Given the description of an element on the screen output the (x, y) to click on. 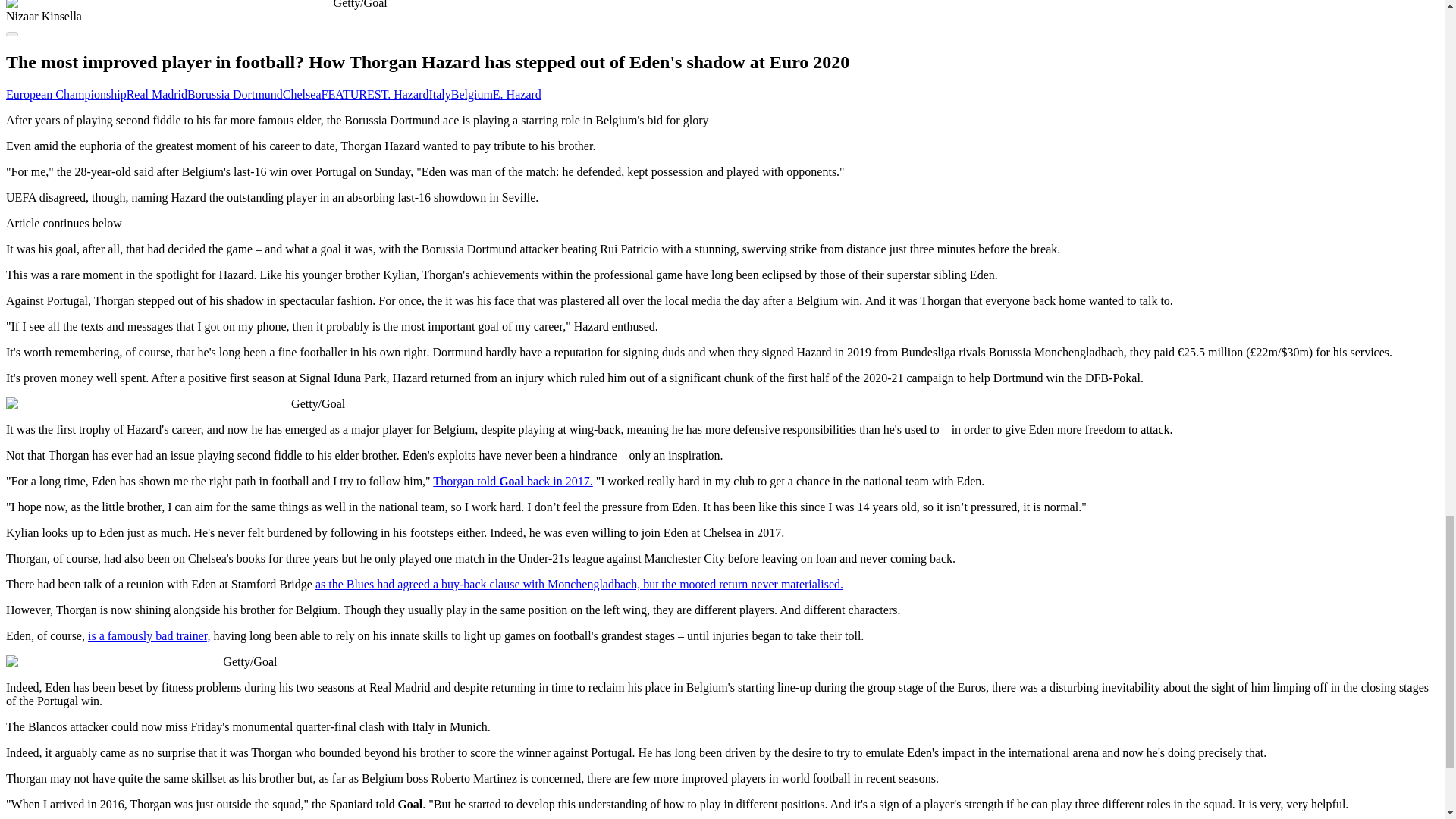
E. Hazard (517, 93)
T. Hazard (405, 93)
Chelsea (301, 93)
Real Madrid (156, 93)
Belgium (472, 93)
FEATURES (351, 93)
European Championship (65, 93)
Italy (438, 93)
Borussia Dortmund (234, 93)
